Given the description of an element on the screen output the (x, y) to click on. 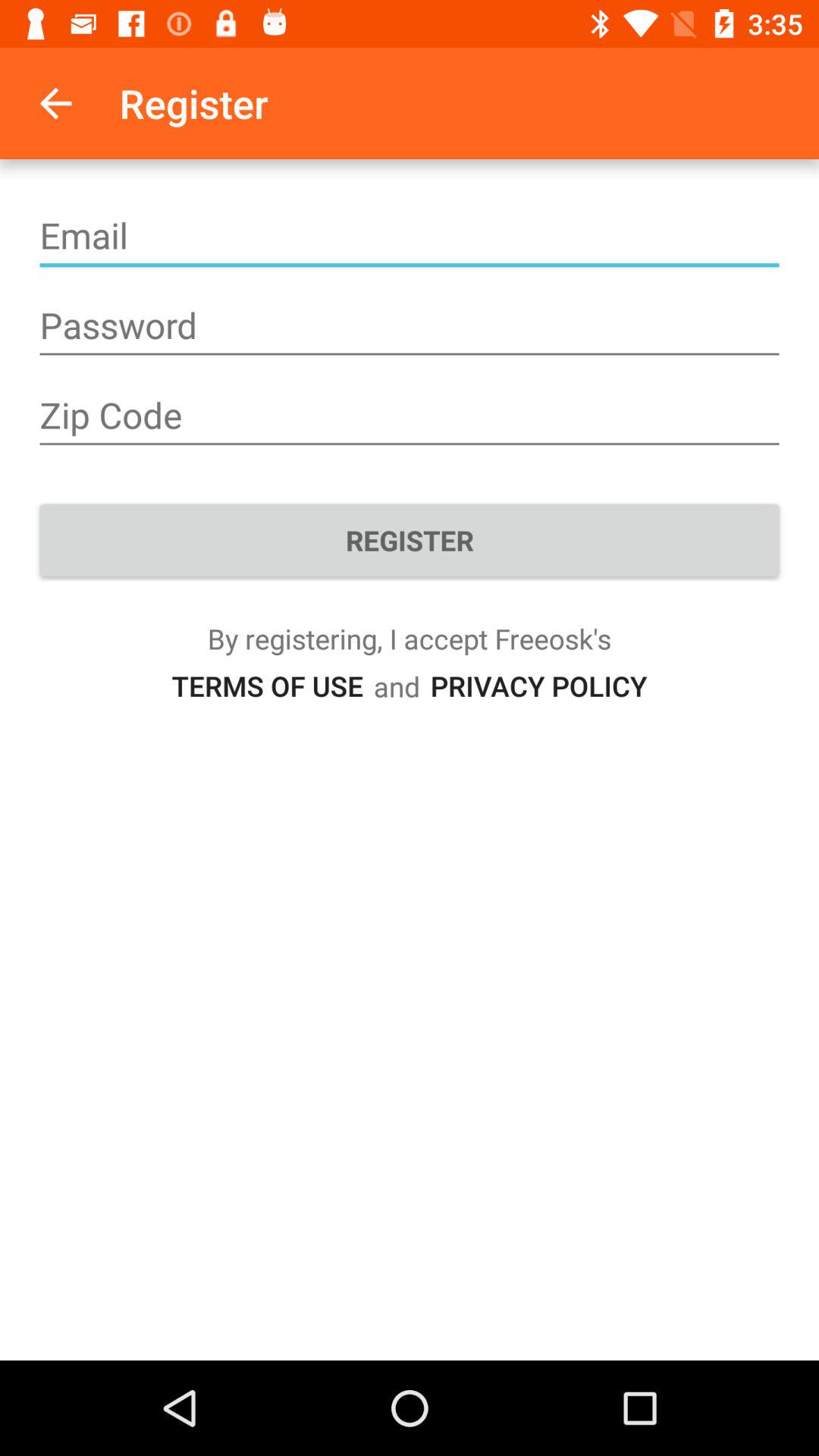
scroll to the privacy policy icon (538, 685)
